Given the description of an element on the screen output the (x, y) to click on. 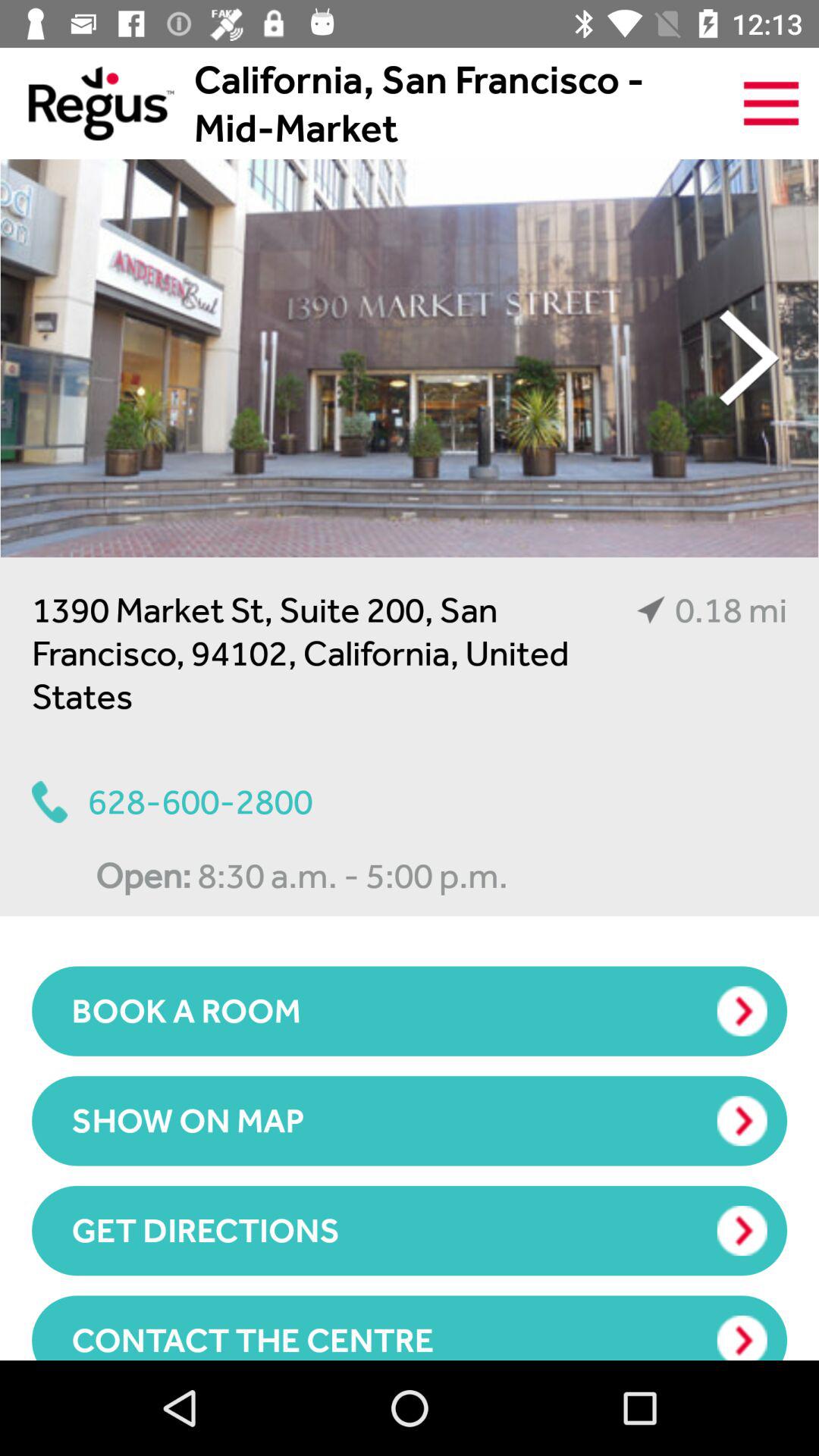
select the icon above open 8 30 (171, 801)
